Given the description of an element on the screen output the (x, y) to click on. 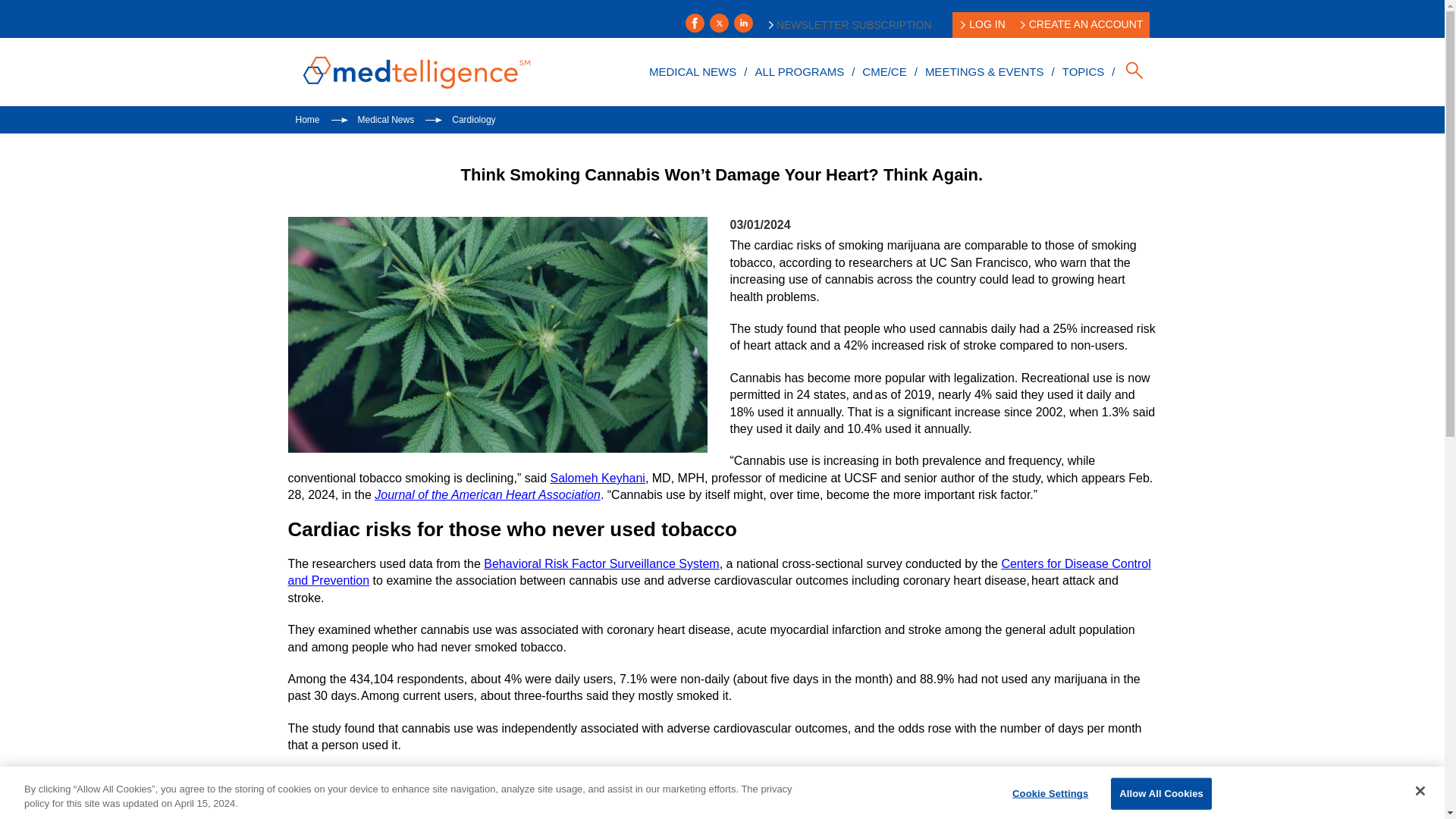
Twitter (719, 22)
LinkedIn (742, 22)
Medtelligence (416, 71)
CREATE AN ACCOUNT (1082, 24)
ALL PROGRAMS (799, 71)
MEDICAL NEWS (692, 71)
NEWSLETTER SUBSCRIPTION (849, 24)
TOPICS (1083, 71)
LOG IN (983, 24)
